Given the description of an element on the screen output the (x, y) to click on. 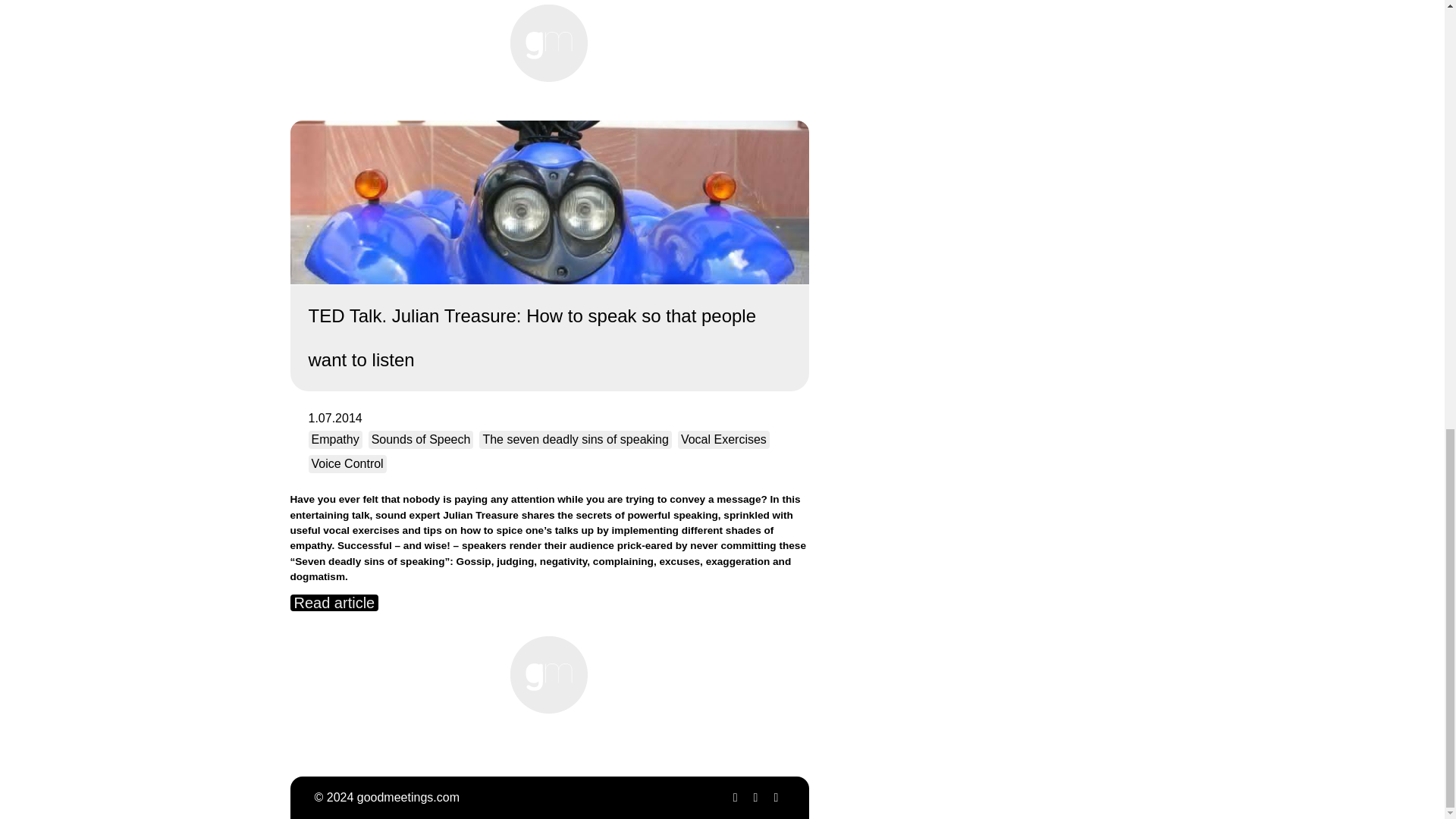
Empathy (334, 439)
Vocal Exercises (724, 439)
Sounds of Speech (421, 439)
Facebook (754, 797)
LinkedIn (775, 797)
The seven deadly sins of speaking (575, 439)
Twitter (734, 797)
Voice Control (346, 464)
